Given the description of an element on the screen output the (x, y) to click on. 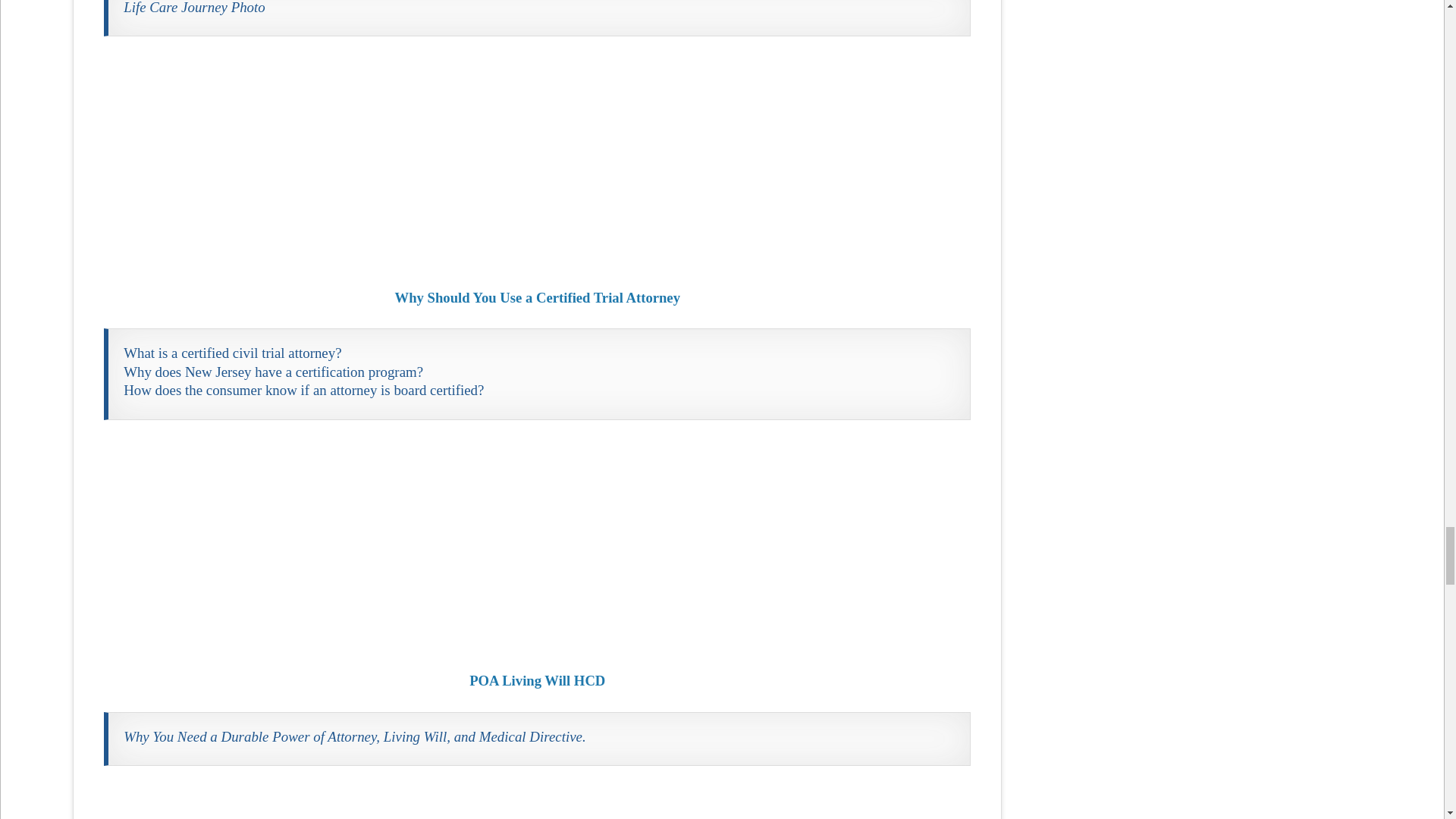
A.A.A.D.D.D. Handout (536, 801)
POA Living Will HCD (536, 544)
Why Should You Use a Certified Trial Attorney (536, 161)
